Given the description of an element on the screen output the (x, y) to click on. 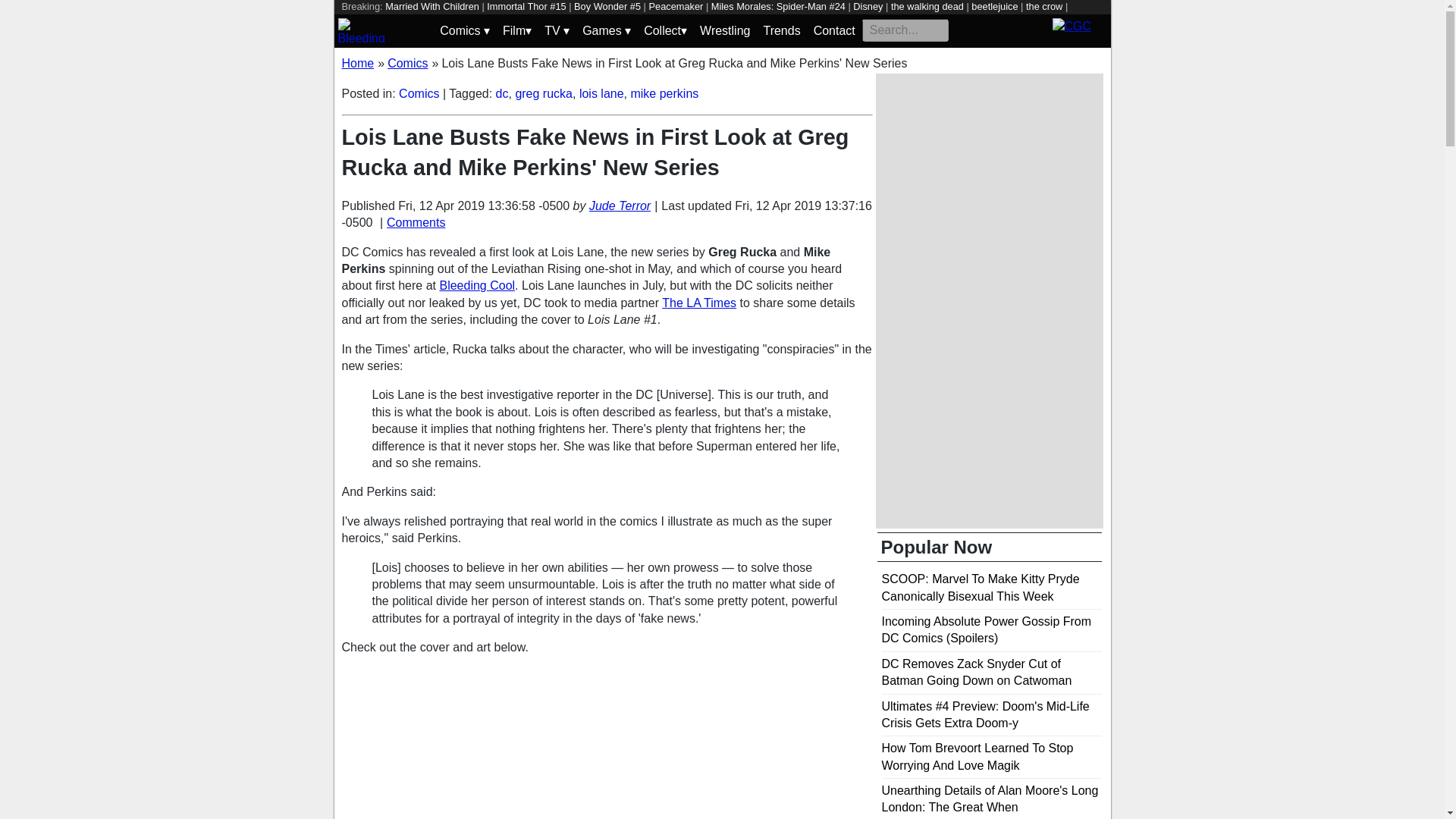
Harry Potter (430, 19)
Toggle Dropdown (464, 30)
AEW Collision (718, 19)
Reacher (587, 19)
Toggle Dropdown (556, 30)
Married With Children (432, 6)
heartstopper (368, 19)
Beetlejuice Beetlejuice (513, 19)
Fri, 12 Apr 2019 13:37:16 -0500 (605, 214)
the walking dead (927, 6)
